Given the description of an element on the screen output the (x, y) to click on. 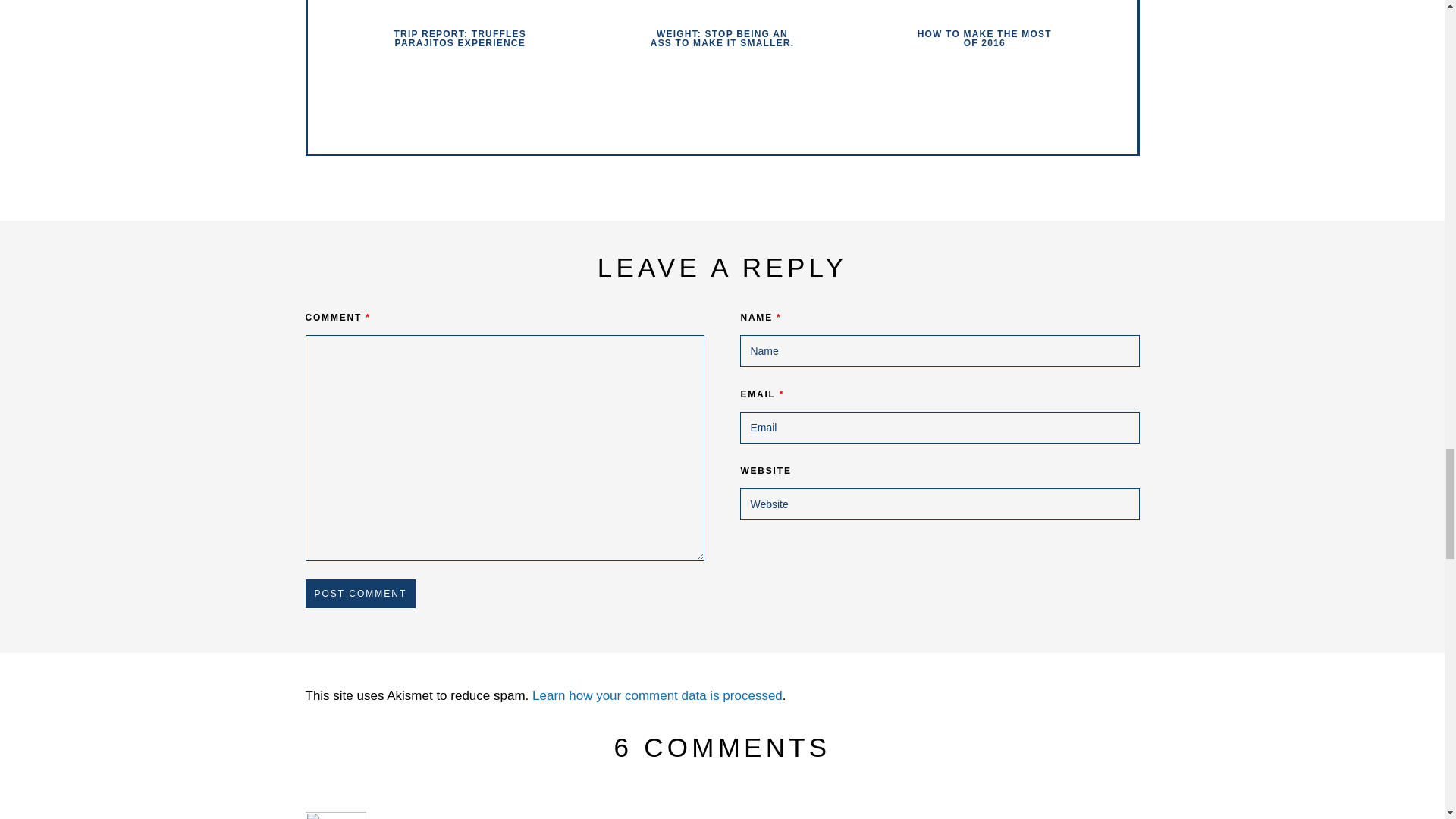
Post Comment (359, 593)
Learn how your comment data is processed (657, 695)
HOW TO MAKE THE MOST OF 2016 (984, 38)
TRIP REPORT: TRUFFLES PARAJITOS EXPERIENCE (459, 38)
Post Comment (359, 593)
WEIGHT: STOP BEING AN ASS TO MAKE IT SMALLER. (721, 38)
